Given the description of an element on the screen output the (x, y) to click on. 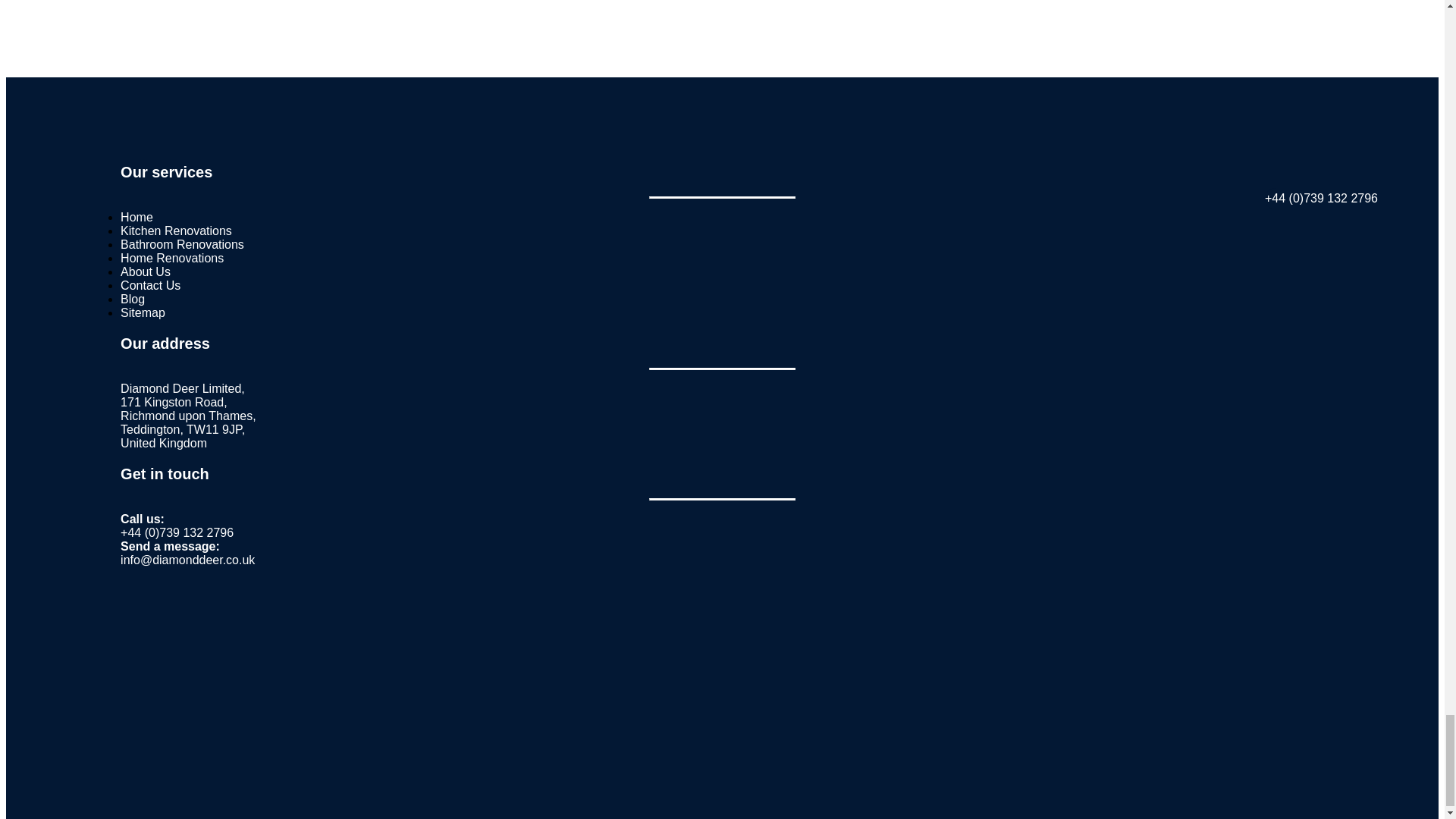
Bathroom Renovations (182, 244)
Home (136, 216)
Contact Us (150, 285)
Home Renovations (172, 257)
About Us (145, 271)
Kitchen Renovations (175, 230)
Sitemap (142, 312)
Blog (132, 298)
